Given the description of an element on the screen output the (x, y) to click on. 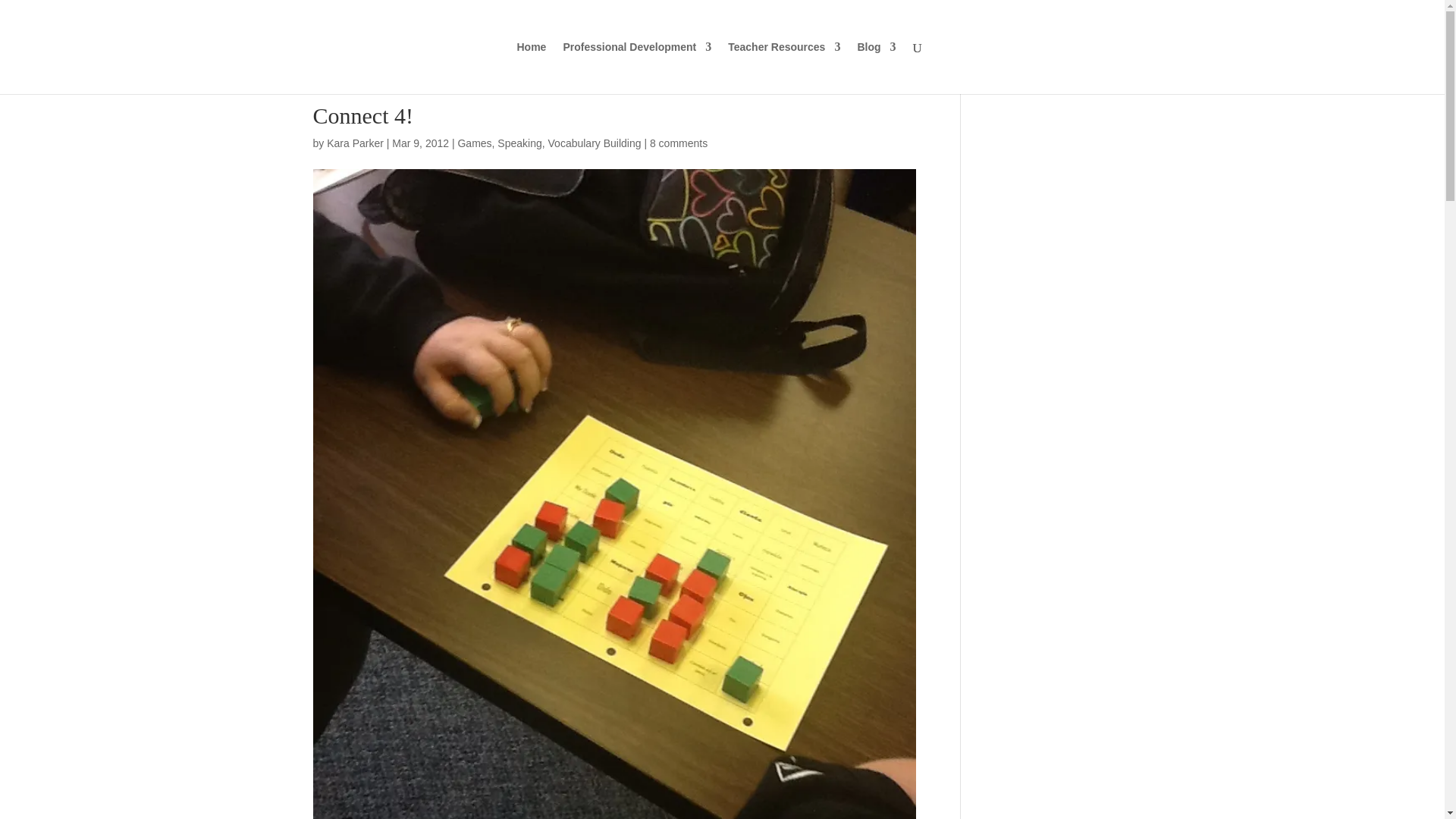
Vocabulary Building (595, 143)
Posts by Kara Parker (355, 143)
Games (474, 143)
8 comments (678, 143)
Speaking (519, 143)
Professional Development (636, 67)
Teacher Resources (784, 67)
Kara Parker (355, 143)
